Given the description of an element on the screen output the (x, y) to click on. 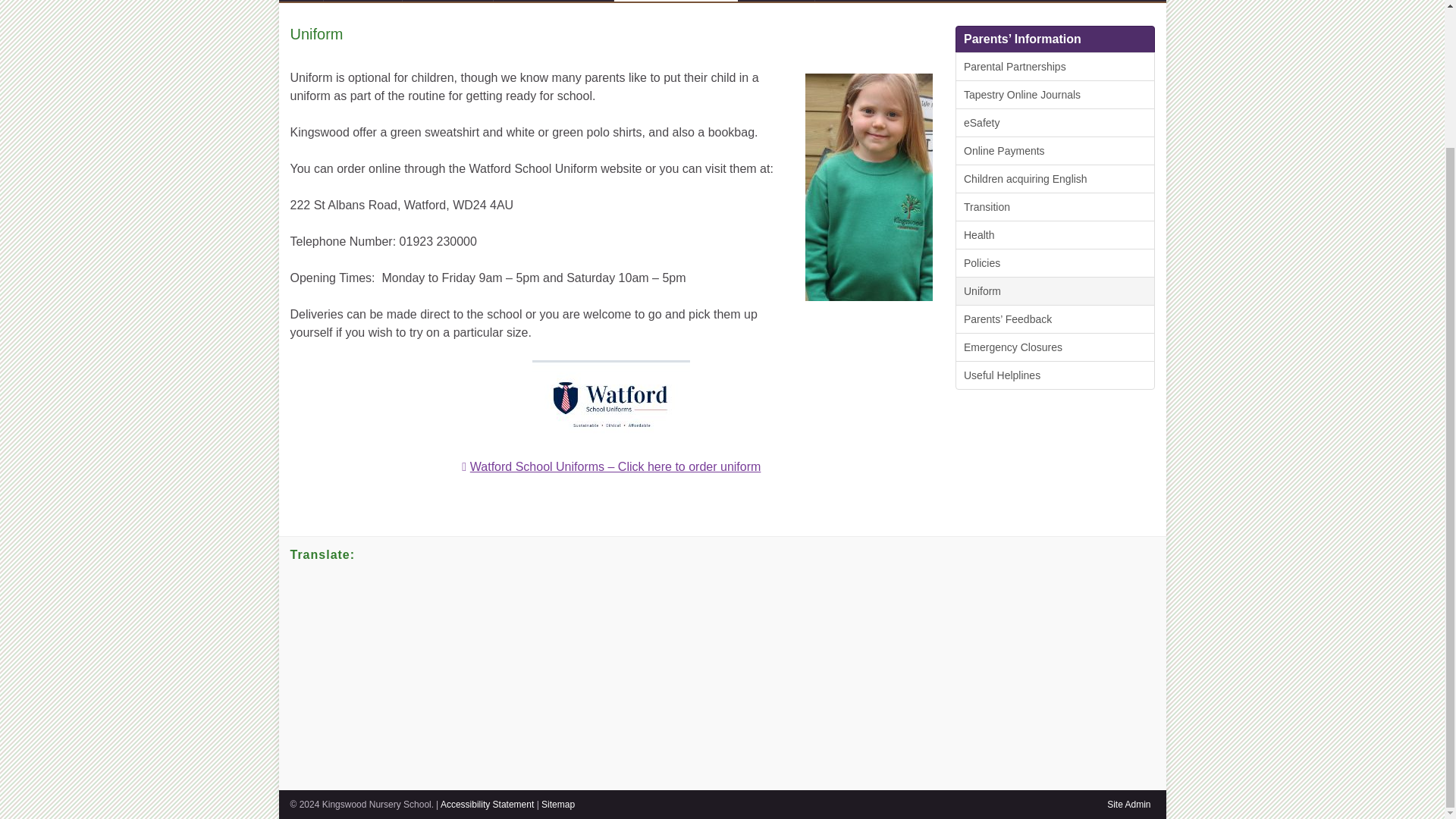
Our School (362, 0)
Home (301, 0)
